Given the description of an element on the screen output the (x, y) to click on. 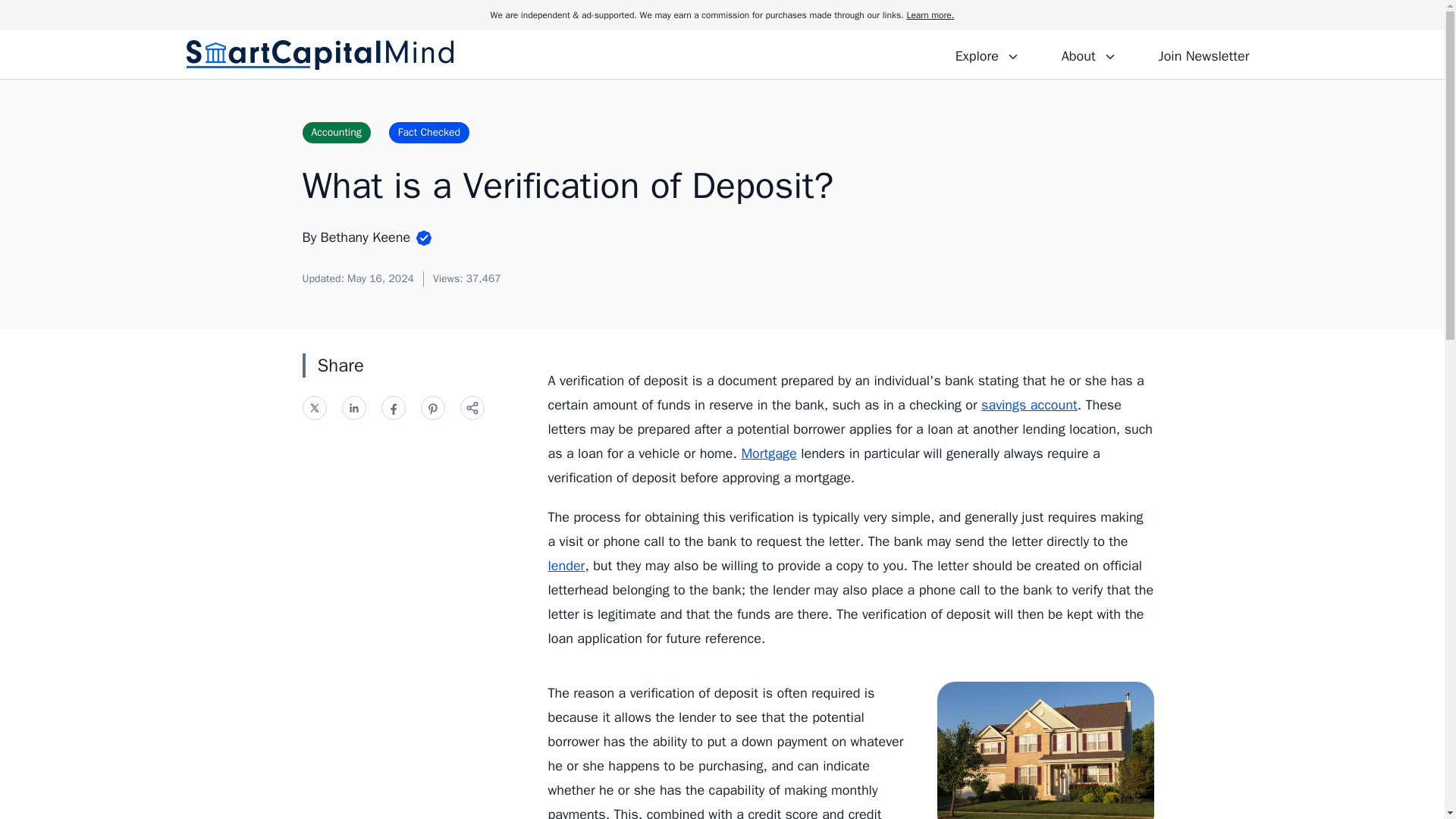
lender (566, 565)
Join Newsletter (1202, 54)
Fact Checked (428, 132)
Accounting (335, 132)
Learn more. (929, 15)
Mortgage (768, 453)
Explore (986, 54)
About (1088, 54)
savings account (1029, 404)
